Given the description of an element on the screen output the (x, y) to click on. 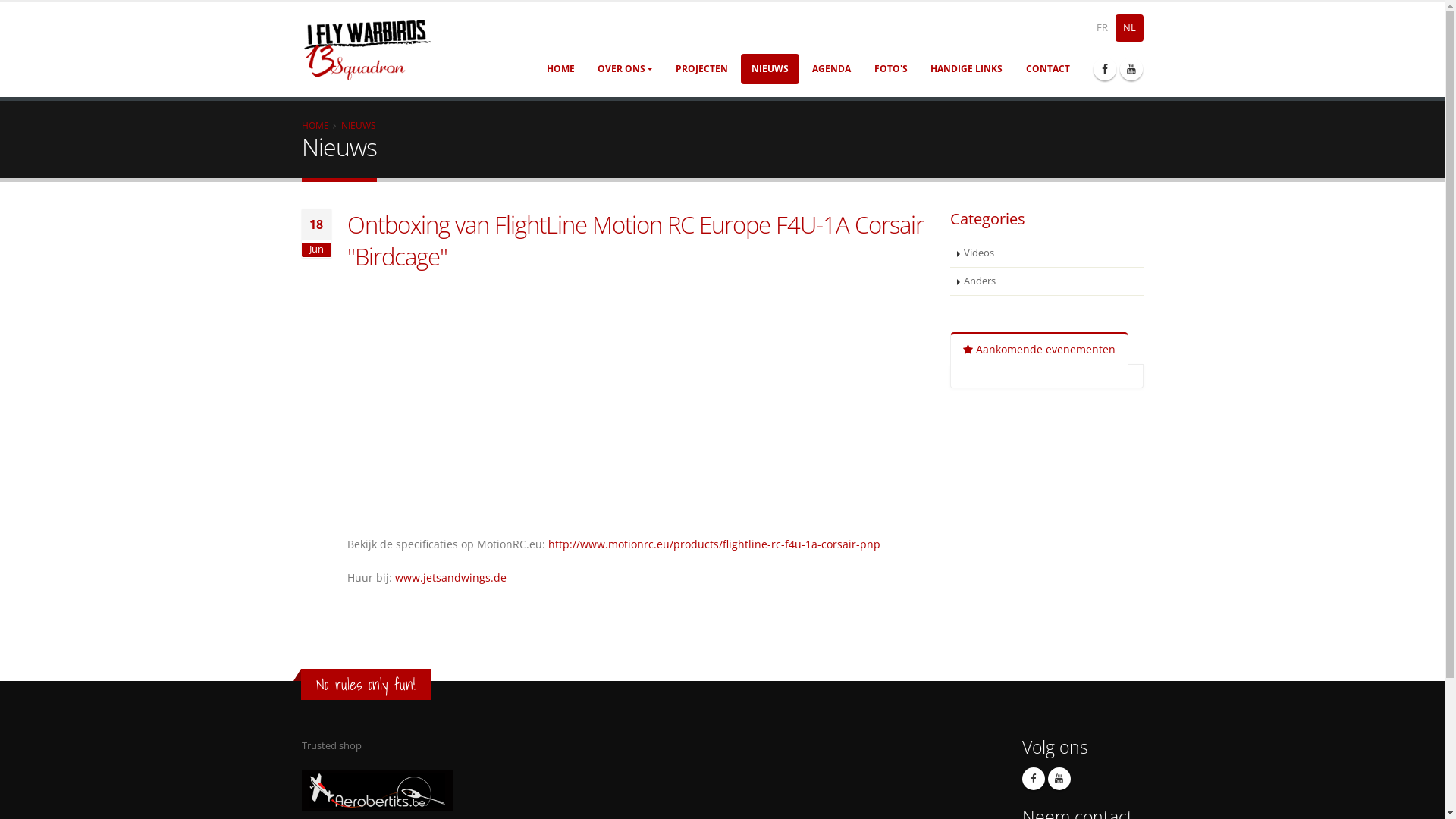
www.jetsandwings.de Element type: text (449, 577)
HOME Element type: text (560, 68)
HOME Element type: text (315, 125)
OVER ONS Element type: text (624, 68)
Aankomende evenementen Element type: text (1038, 348)
Facebook Element type: hover (1104, 68)
FOTO'S Element type: text (890, 68)
Videos Element type: text (1045, 253)
NIEUWS Element type: text (358, 125)
Anders Element type: text (1045, 281)
NL Element type: text (1129, 27)
AGENDA Element type: text (830, 68)
Facebook Element type: hover (1033, 778)
CONTACT Element type: text (1048, 68)
FR Element type: text (1101, 27)
HANDIGE LINKS Element type: text (966, 68)
PROJECTEN Element type: text (702, 68)
Youtube Element type: hover (1131, 68)
youtube Element type: hover (1059, 778)
NIEUWS Element type: text (770, 68)
